Given the description of an element on the screen output the (x, y) to click on. 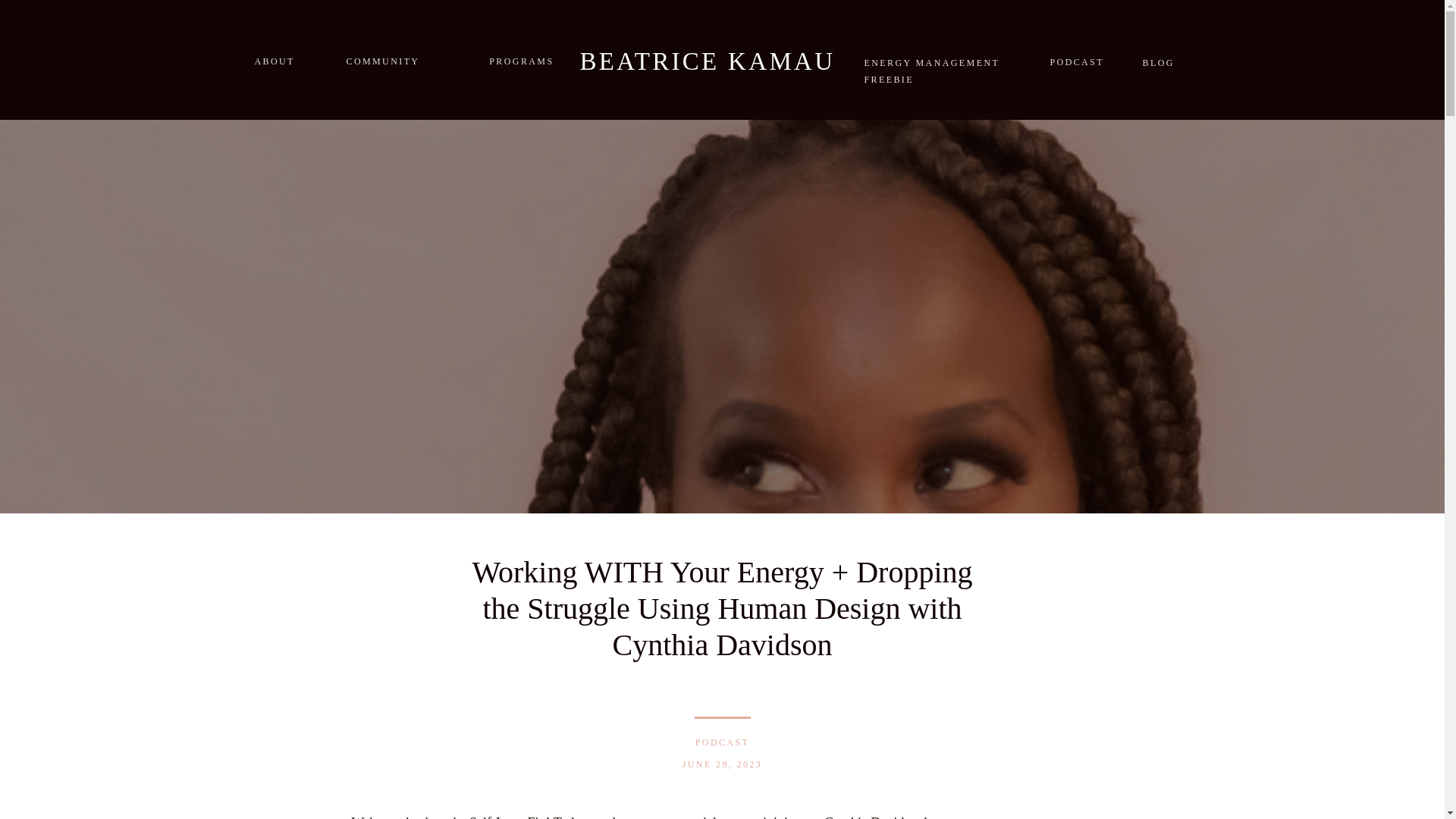
BLOG (1156, 60)
PODCAST (1078, 60)
PROGRAMS (510, 60)
ENERGY MANAGEMENT FREEBIE (937, 60)
COMMUNITY (395, 59)
ABOUT (279, 59)
PODCAST (722, 742)
